Given the description of an element on the screen output the (x, y) to click on. 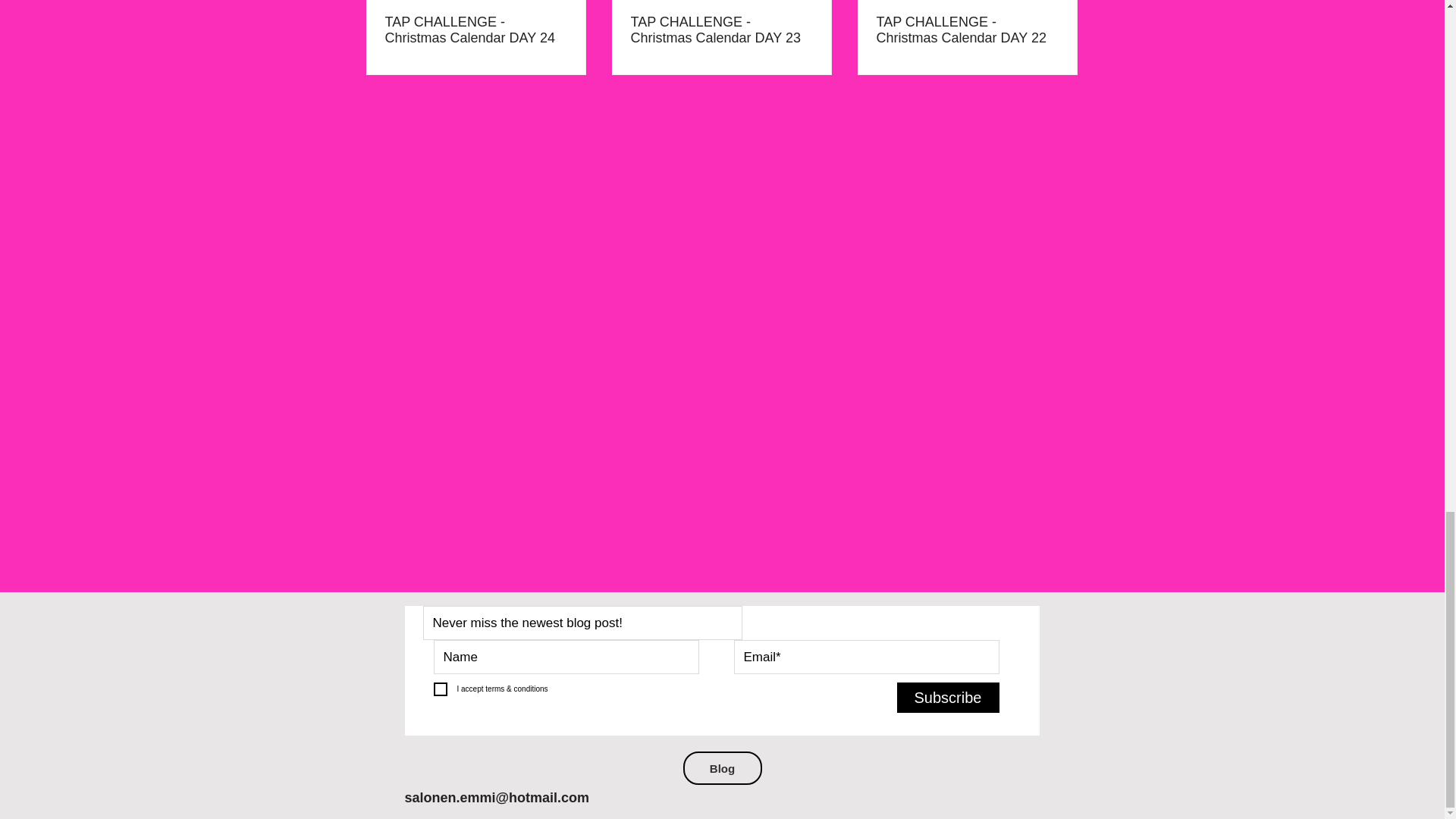
Subscribe (947, 697)
TAP CHALLENGE - Christmas Calendar DAY 23 (721, 29)
TAP CHALLENGE - Christmas Calendar DAY 24 (476, 29)
Blog (721, 767)
TAP CHALLENGE - Christmas Calendar DAY 22 (967, 29)
